Given the description of an element on the screen output the (x, y) to click on. 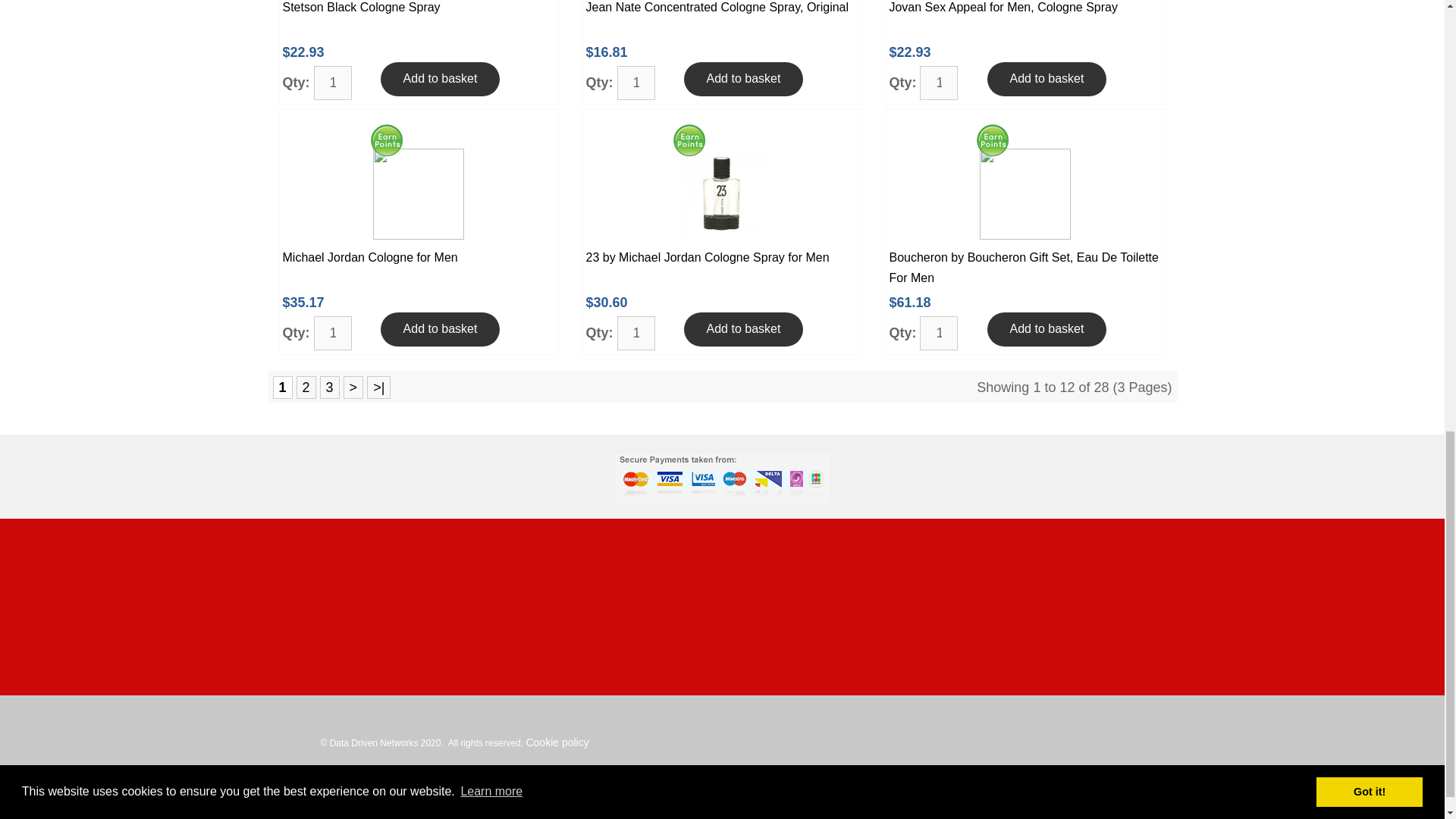
1 (636, 82)
Add to Cart (1046, 79)
1 (333, 82)
1 (939, 82)
1 (333, 333)
Add to Cart (743, 79)
Add to Cart (440, 329)
Add to Cart (440, 79)
1 (636, 333)
1 (939, 333)
